Given the description of an element on the screen output the (x, y) to click on. 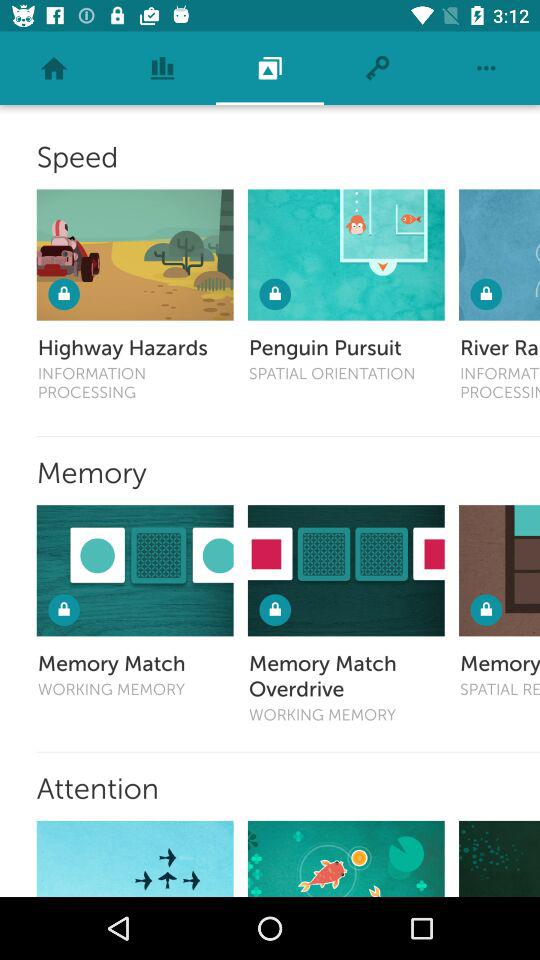
open game (499, 858)
